Given the description of an element on the screen output the (x, y) to click on. 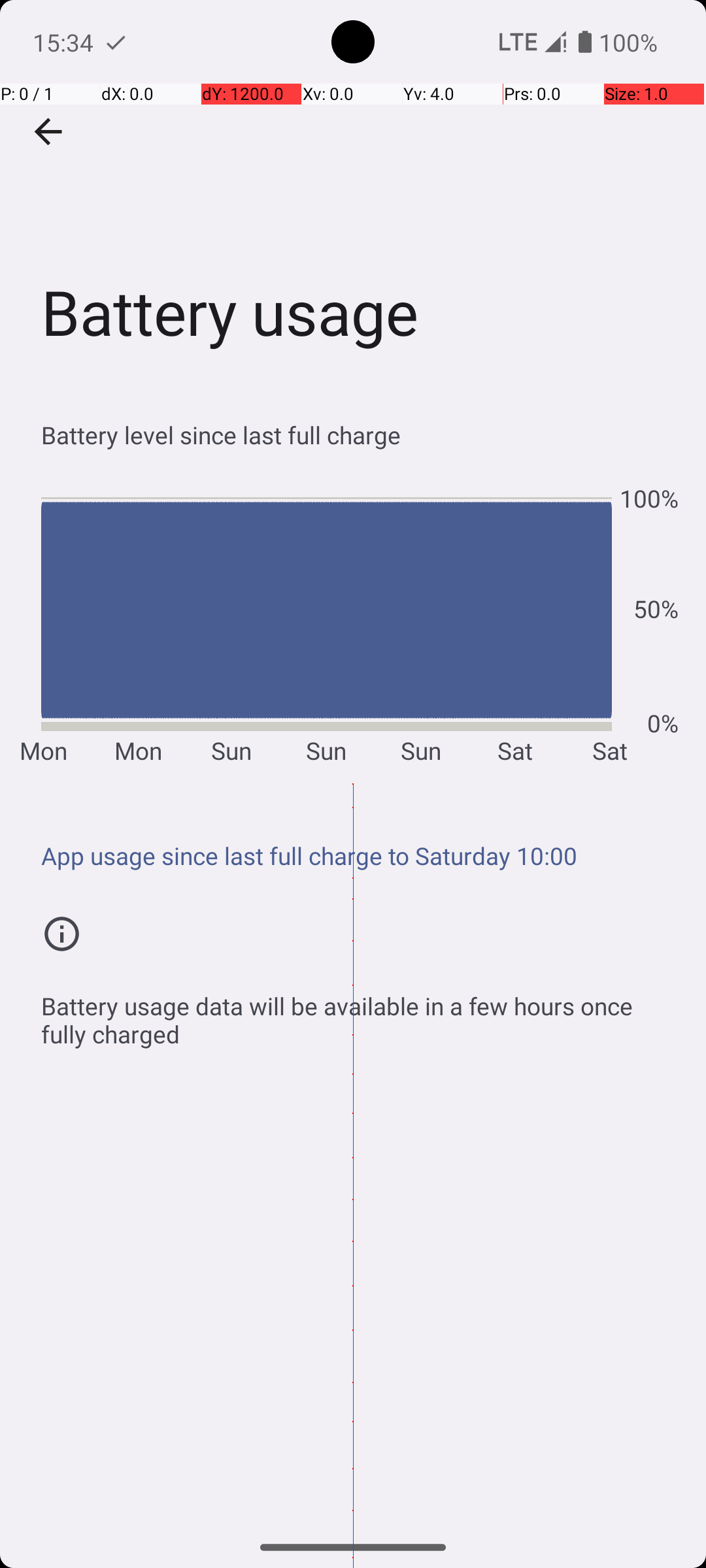
Battery level since last full charge Element type: android.widget.TextView (359, 434)
App usage since last full charge to Saturday 10:00 Element type: android.widget.TextView (359, 855)
Battery usage data will be available in a few hours once fully charged Element type: android.widget.TextView (359, 1012)
